Given the description of an element on the screen output the (x, y) to click on. 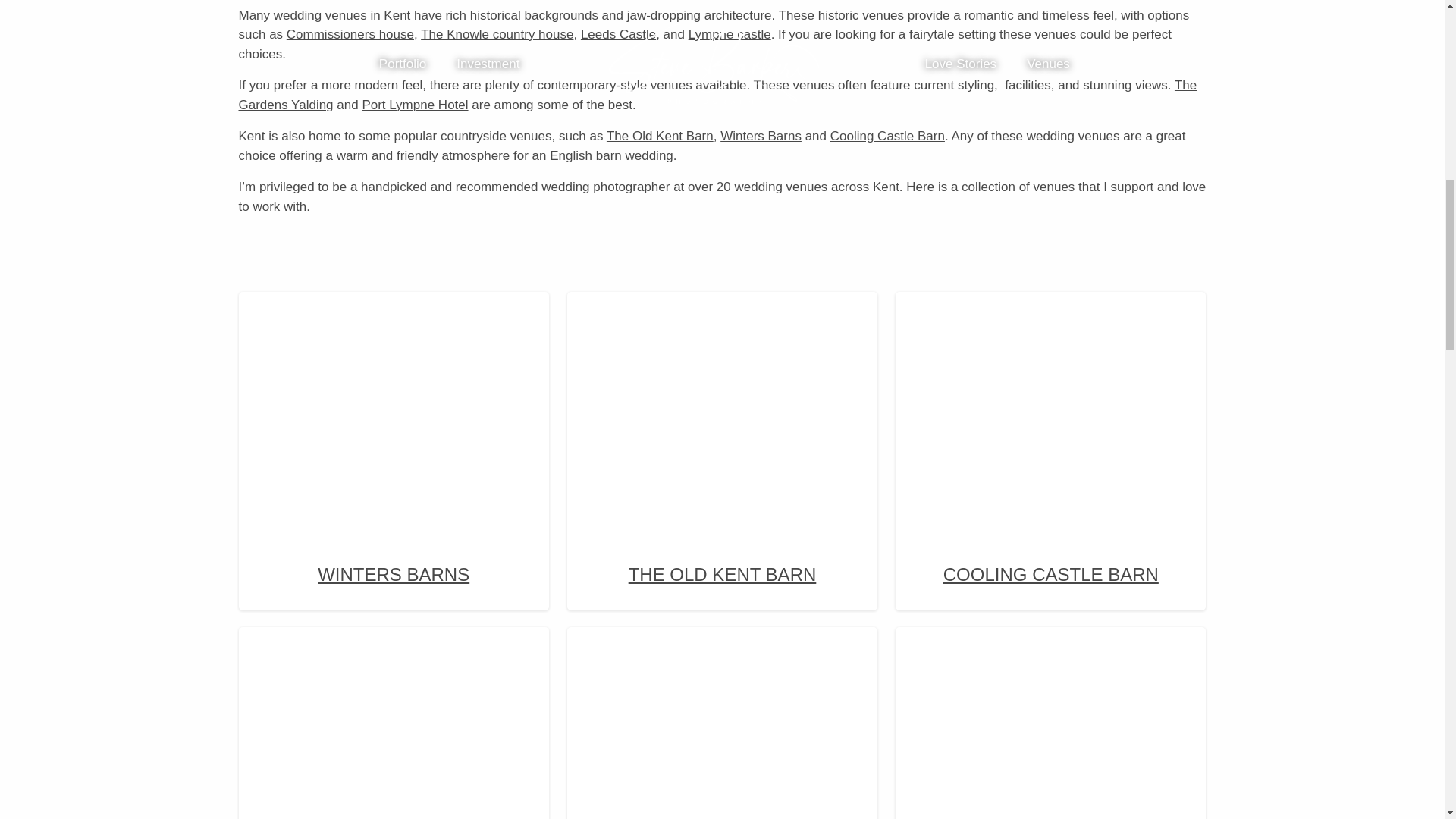
Winters Barns (761, 135)
Port Lympne Hotel (414, 104)
COOLING CASTLE BARN (1050, 447)
Leeds Castle (618, 34)
WINTERS BARNS (393, 447)
Cooling Castle Barn (886, 135)
Cooling Castle Barn (1050, 400)
Winters Barns (393, 400)
The Gardens Yalding (717, 94)
Lympne castle (729, 34)
